Given the description of an element on the screen output the (x, y) to click on. 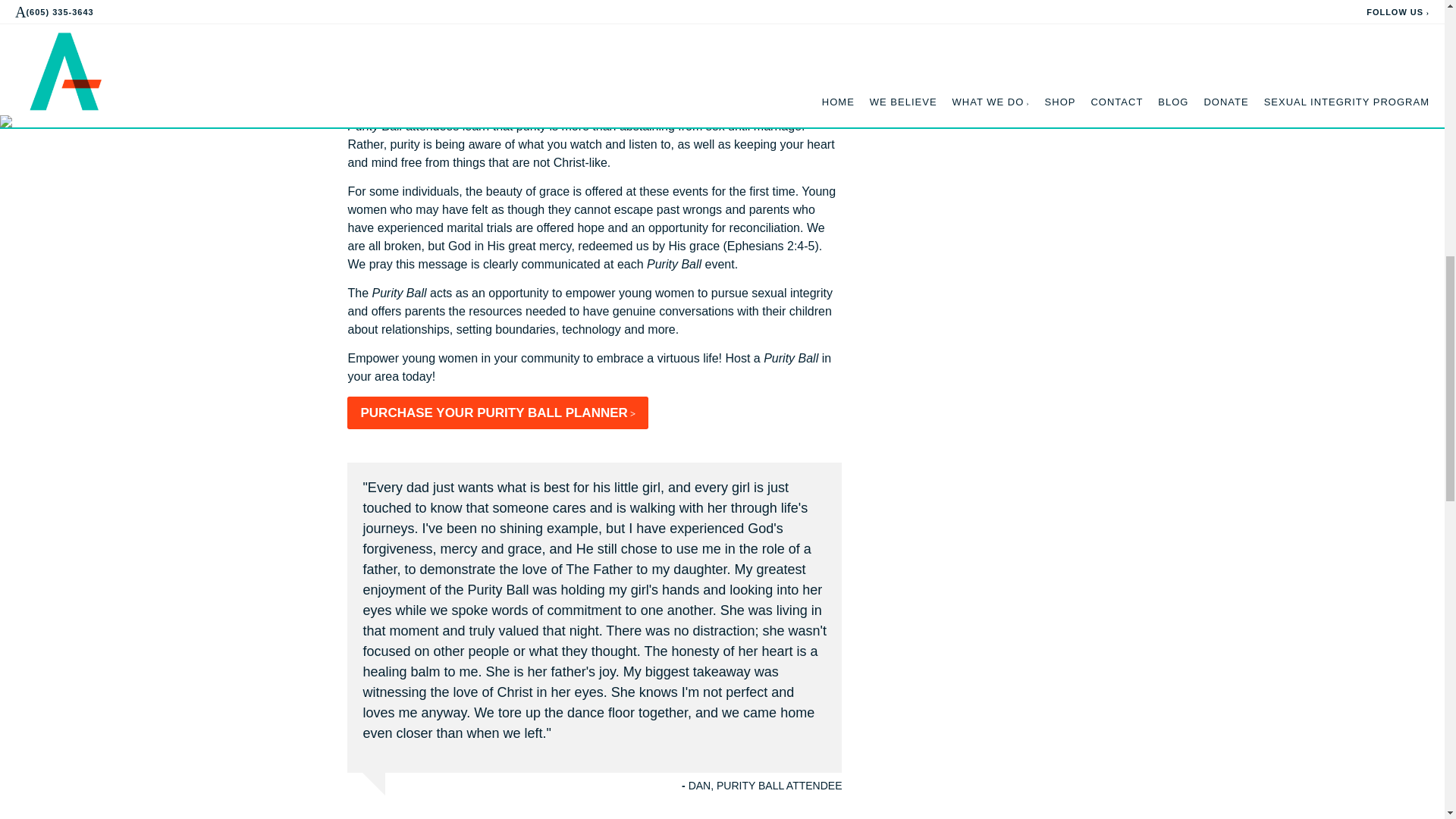
PURCHASE YOUR PURITY BALL PLANNER (497, 412)
